Given the description of an element on the screen output the (x, y) to click on. 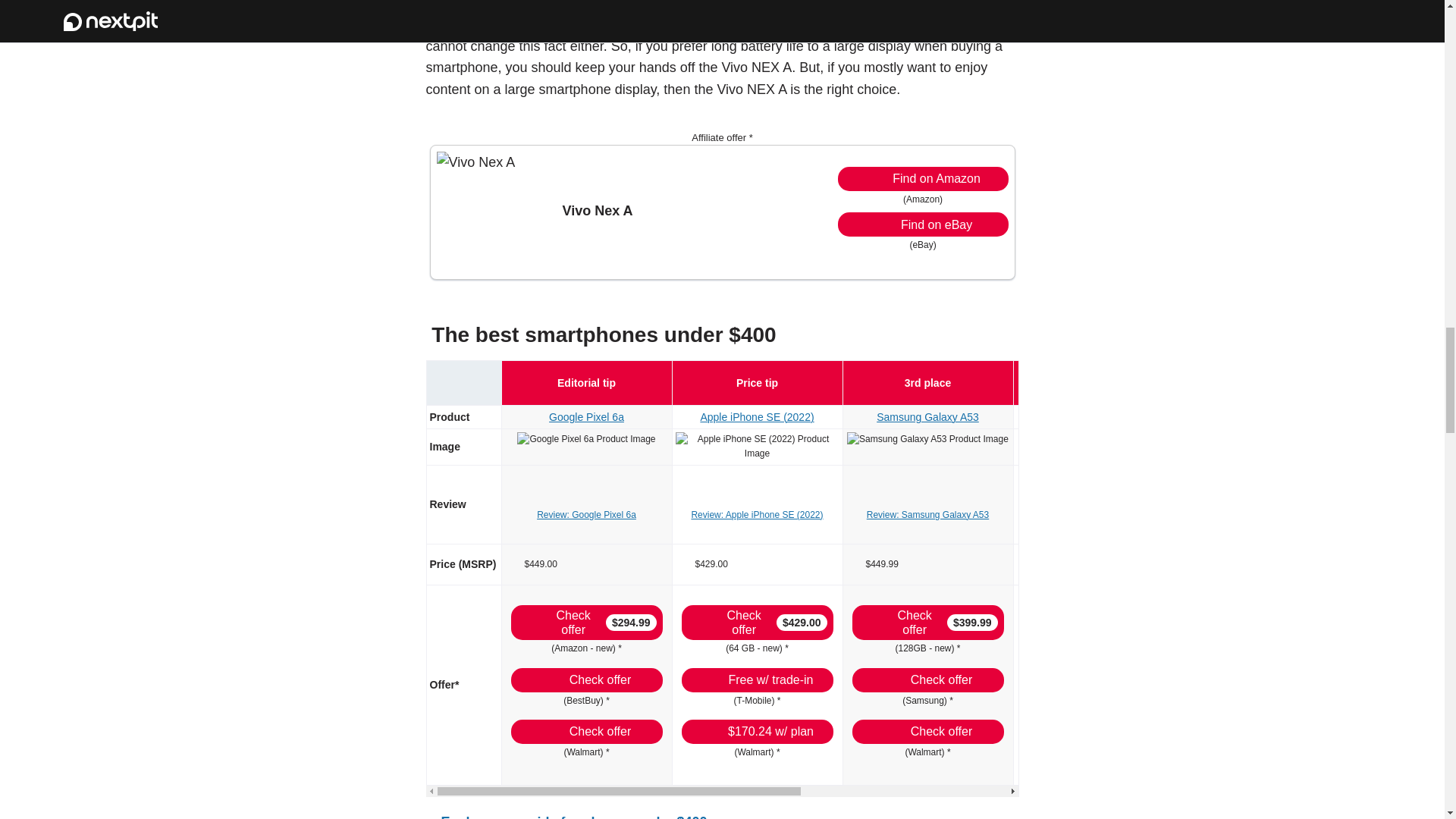
Samsung Galaxy A53 Product Image (928, 439)
OnePlus Nord N20 Product Image (1098, 439)
Google Pixel 6a Product Image (585, 439)
